Given the description of an element on the screen output the (x, y) to click on. 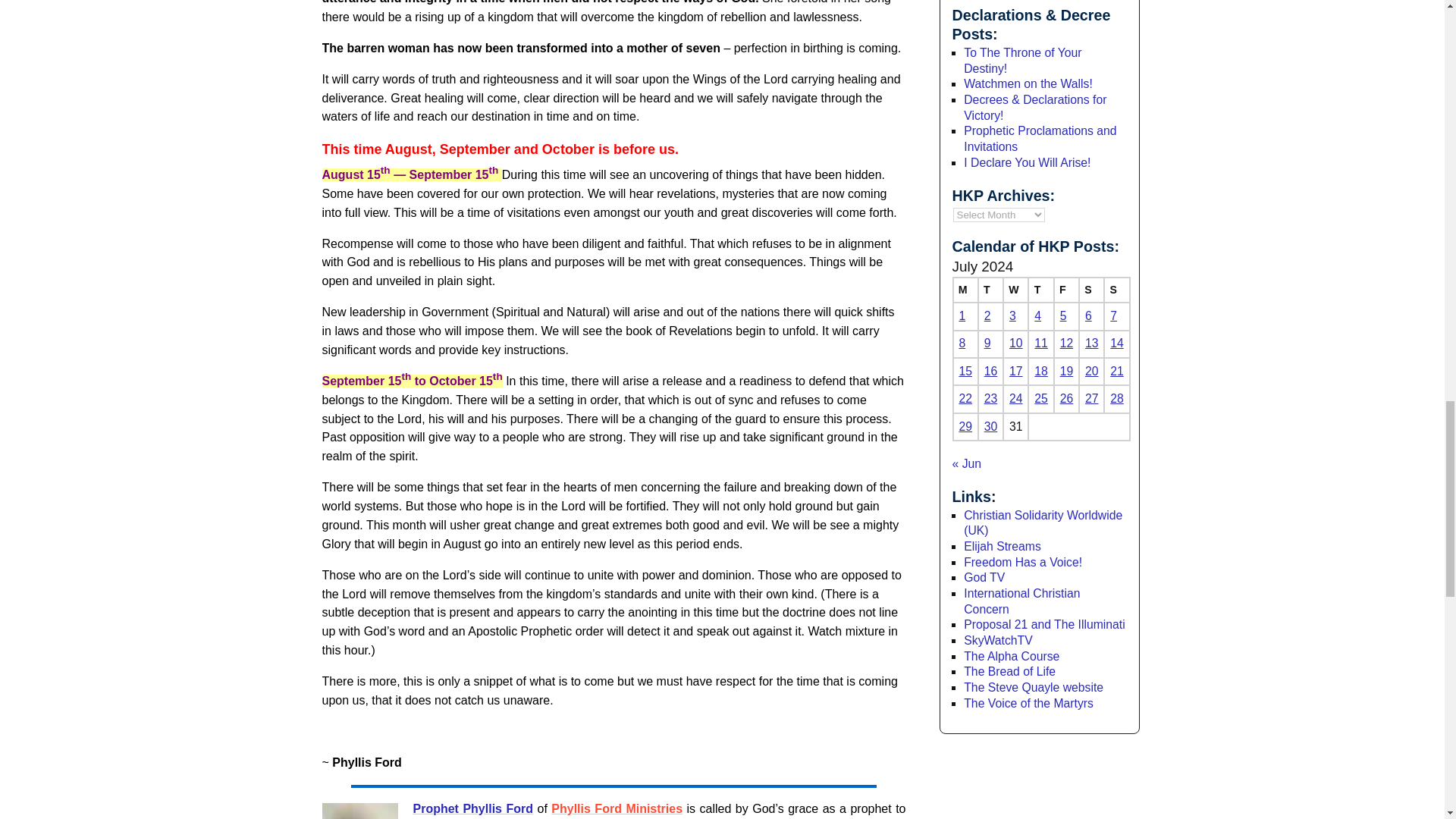
Tuesday (990, 289)
Friday (1066, 289)
Thursday (1039, 289)
Phyllis Ford (359, 811)
Saturday (1090, 289)
Monday (964, 289)
Phyllis Ford Ministries (616, 808)
Wednesday (1015, 289)
